Given the description of an element on the screen output the (x, y) to click on. 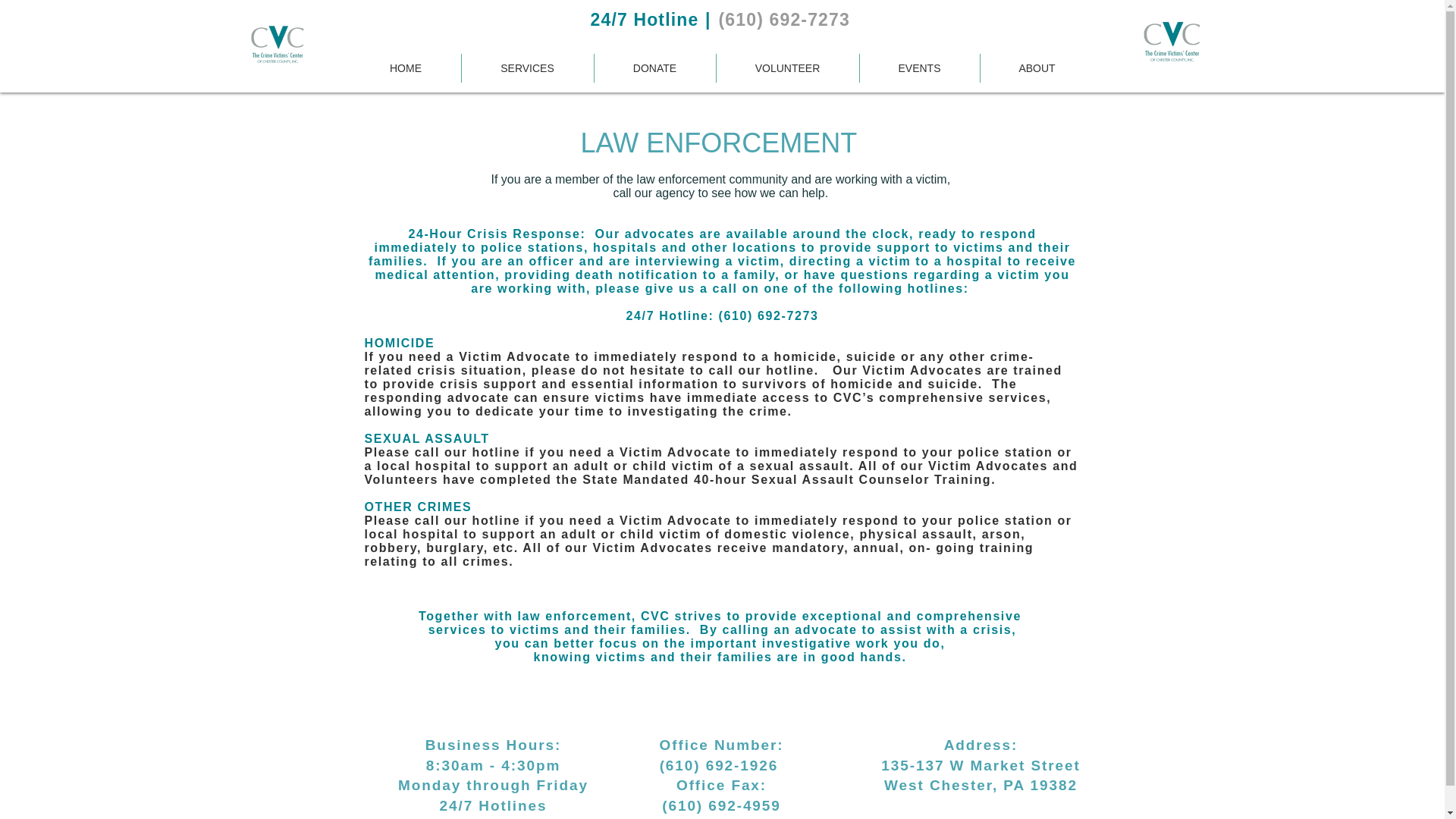
HOME (405, 68)
VOLUNTEER (787, 68)
CVC logo.png (1171, 43)
DONATE (655, 68)
